Given the description of an element on the screen output the (x, y) to click on. 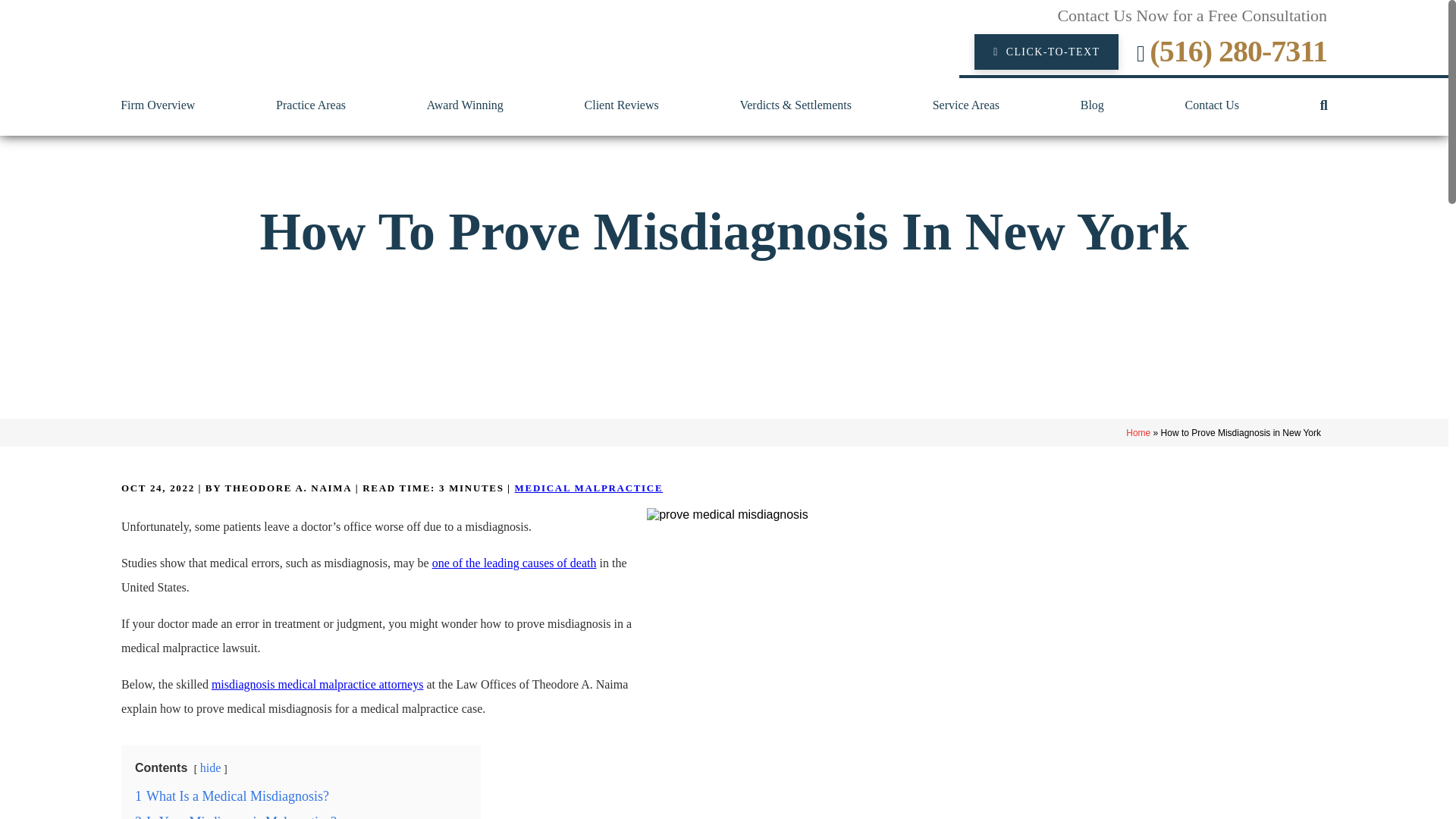
Service Areas (965, 105)
Medical Malpractice (589, 487)
Firm Overview (157, 105)
Practice Areas (311, 105)
CLICK-TO-TEXT (1046, 51)
Contact Us (1212, 105)
Blog (1091, 105)
Award Winning (464, 105)
Client Reviews (622, 105)
